Given the description of an element on the screen output the (x, y) to click on. 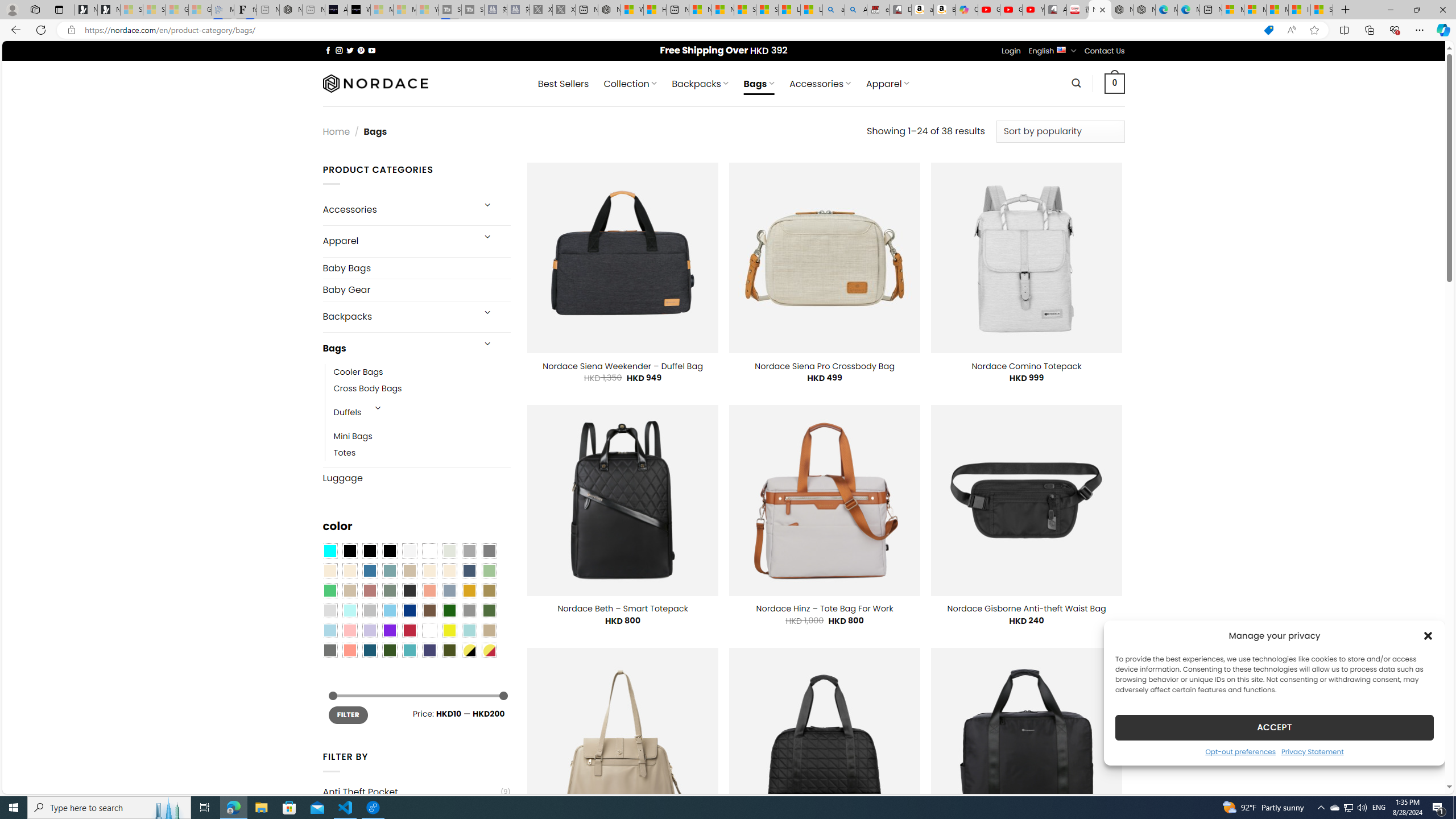
Login (1010, 50)
  0   (1115, 83)
Nordace Siena Pro Crossbody Bag (823, 365)
White (429, 630)
Totes (344, 452)
Coral (429, 590)
Luggage (416, 477)
